Given the description of an element on the screen output the (x, y) to click on. 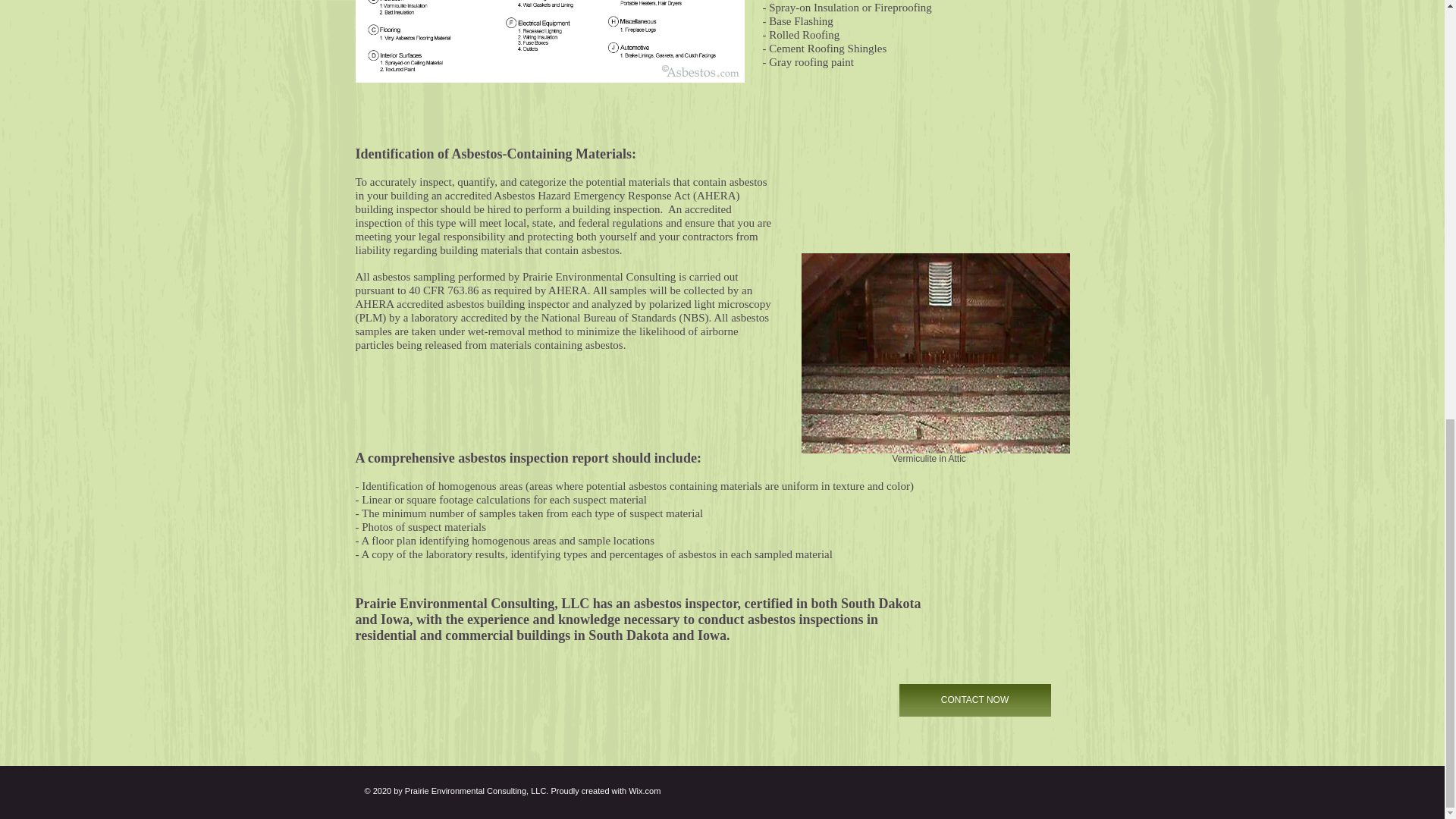
CONTACT NOW (975, 699)
Wix.com (644, 790)
Asbestos In Your Home (549, 41)
Vermiculite (934, 353)
